Given the description of an element on the screen output the (x, y) to click on. 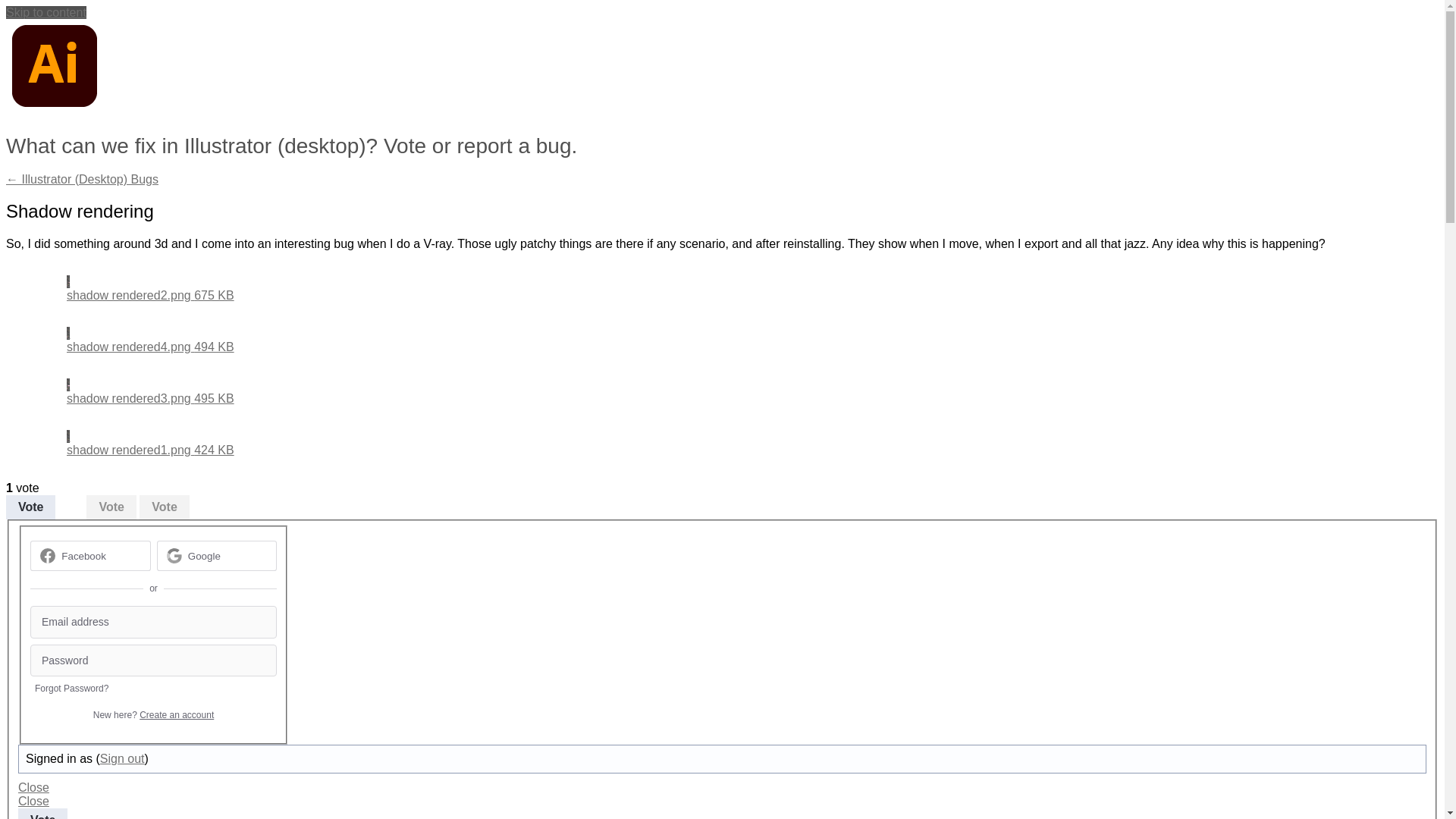
New here? Create an account (153, 715)
Google sign in (215, 555)
Vote (164, 507)
Vote (30, 507)
Facebook sign in (90, 555)
Vote (110, 507)
Facebook (83, 555)
Voting has closed (164, 507)
Close (33, 800)
Skip to content (45, 11)
View shadow rendered4.png (150, 340)
Sign out (122, 758)
Google (204, 555)
  shadow rendered1.png 424 KB (150, 443)
  shadow rendered4.png 494 KB (150, 340)
